Given the description of an element on the screen output the (x, y) to click on. 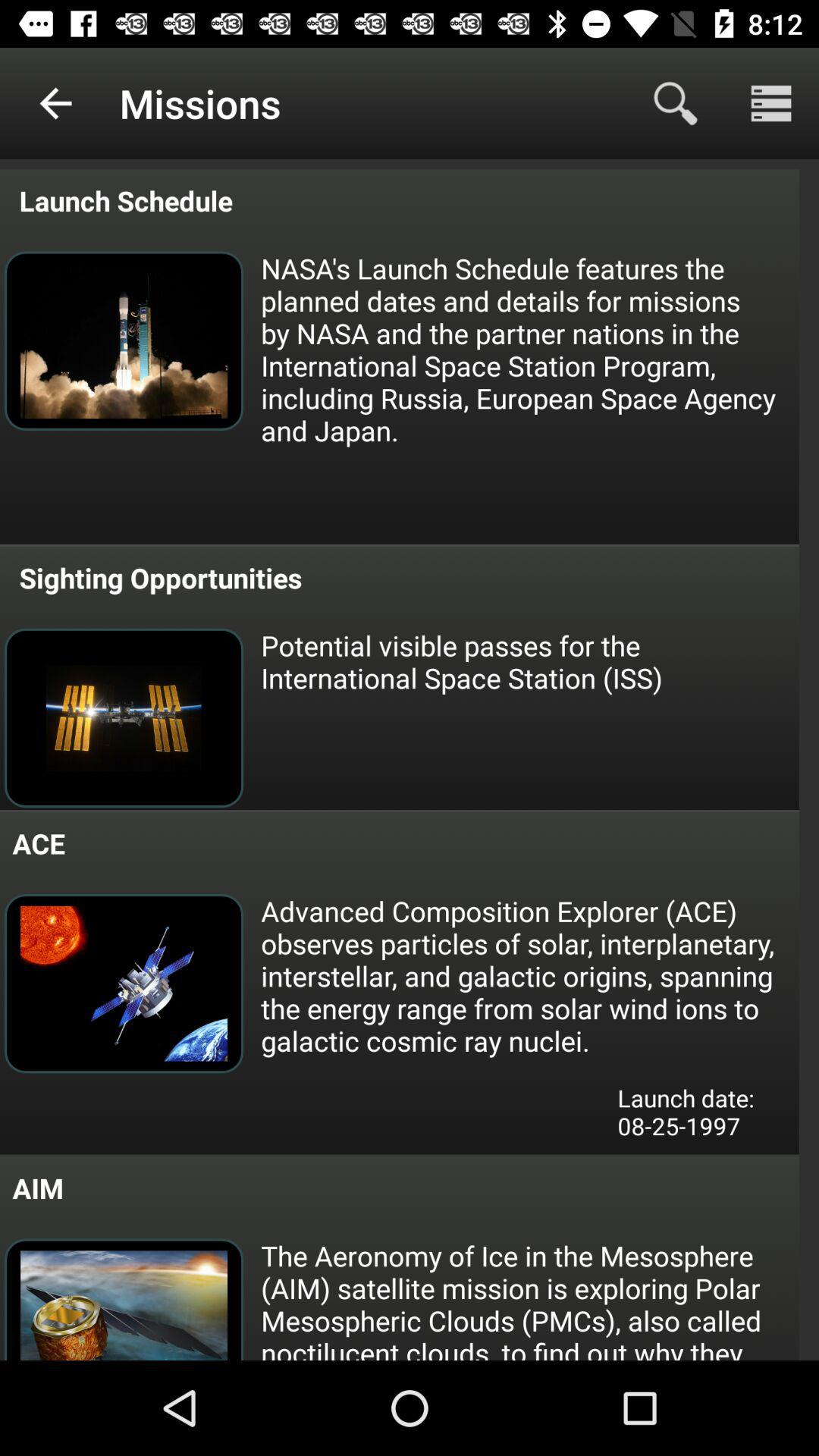
click item below the advanced composition explorer item (696, 1116)
